Given the description of an element on the screen output the (x, y) to click on. 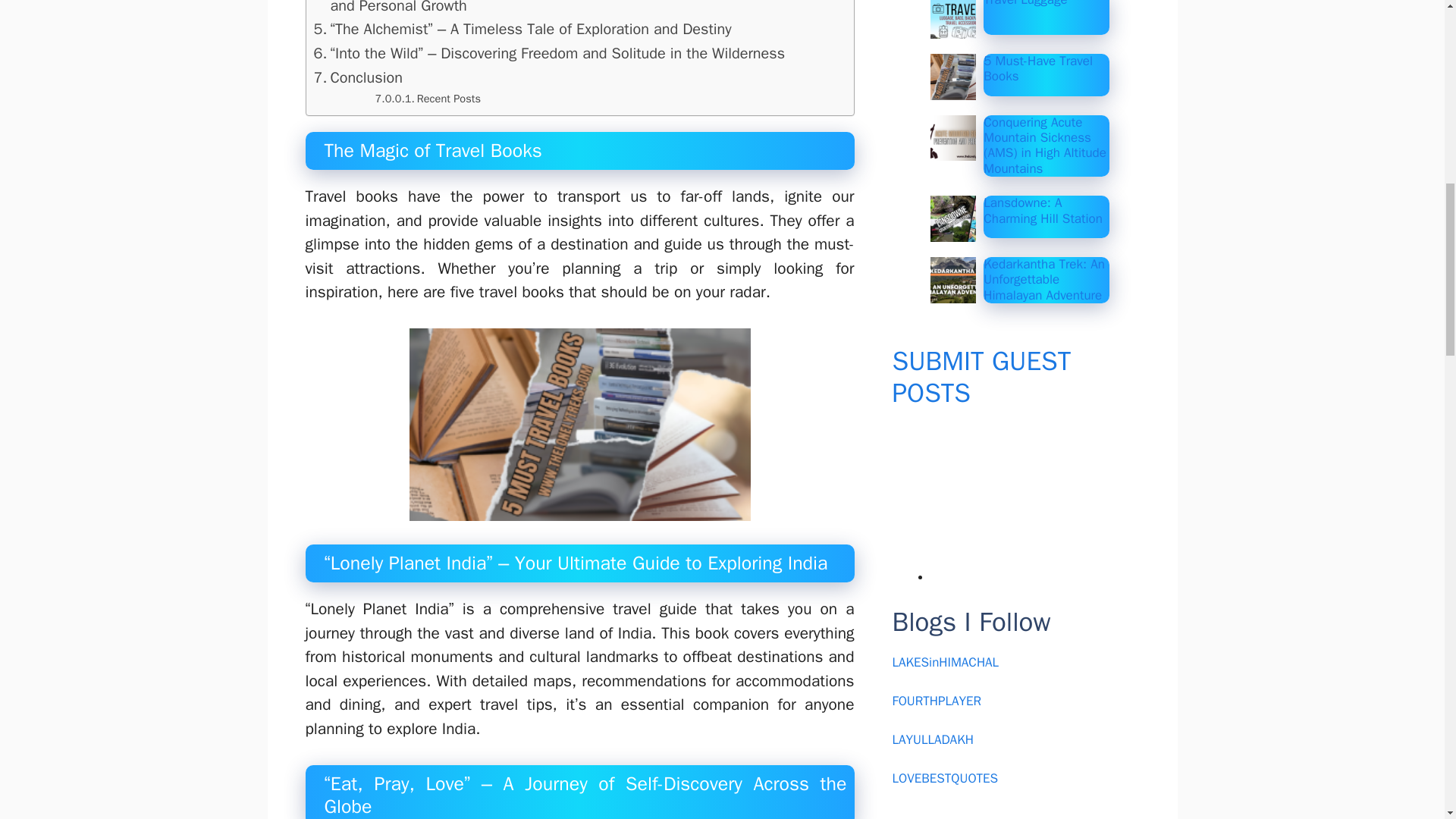
Conclusion (358, 78)
Recent Posts (427, 98)
Conclusion (358, 78)
Recent Posts (427, 98)
